Given the description of an element on the screen output the (x, y) to click on. 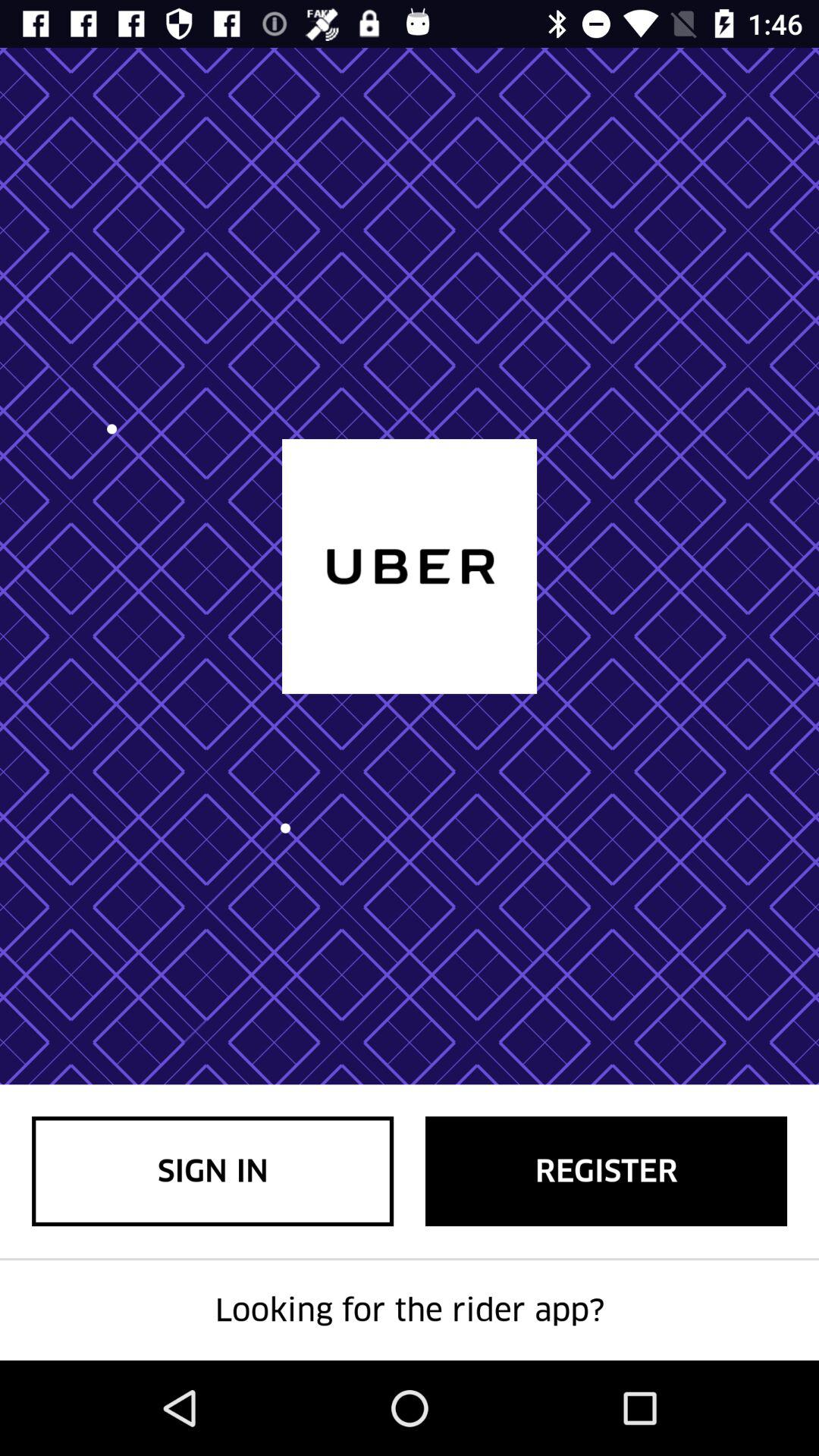
turn on the item at the bottom left corner (212, 1171)
